Given the description of an element on the screen output the (x, y) to click on. 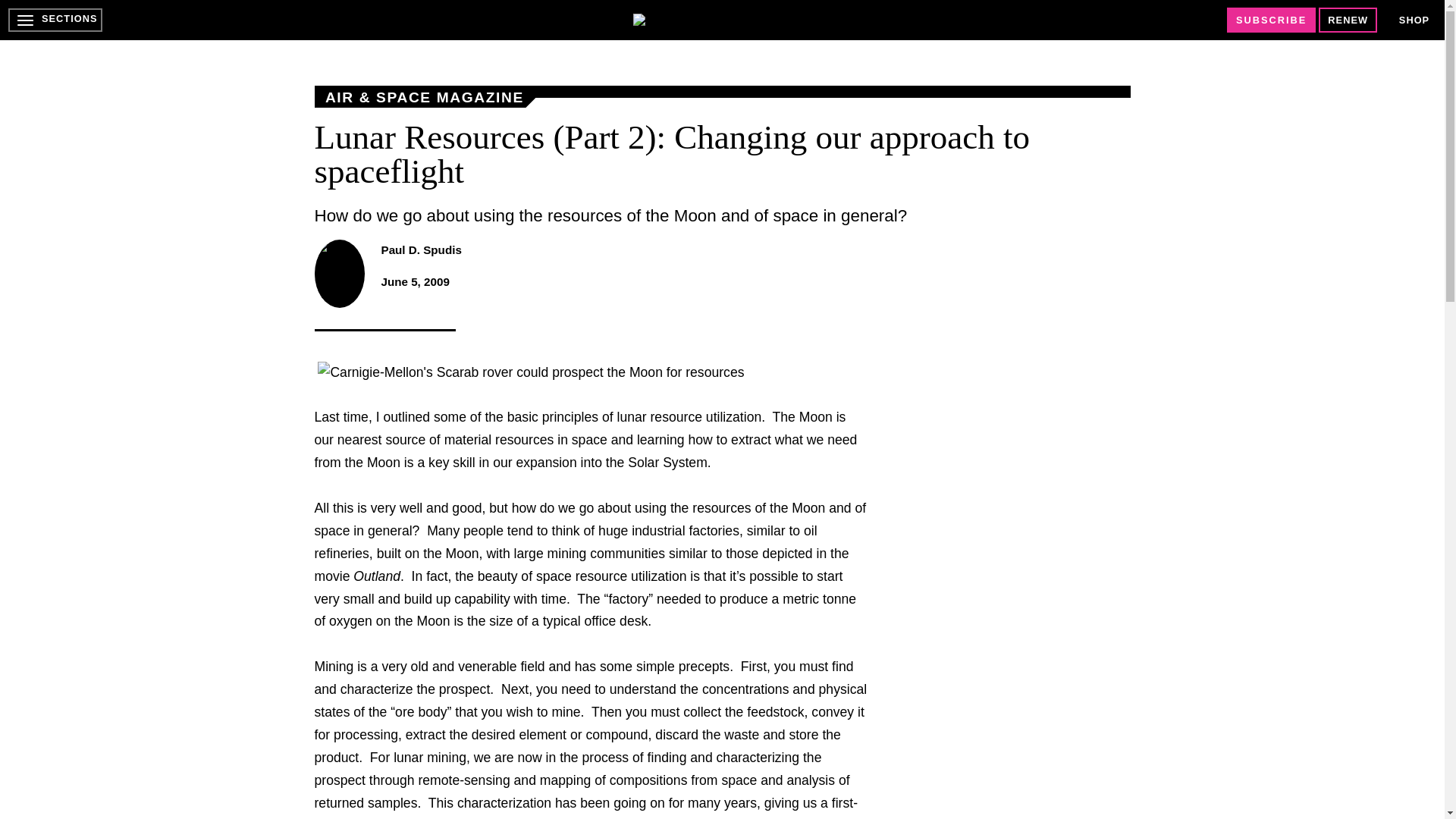
SHOP (1413, 19)
SUBSCRIBE (1271, 19)
SUBSCRIBE (1271, 19)
SHOP (1414, 19)
scarab (530, 372)
RENEW (1348, 19)
RENEW (1347, 19)
SECTIONS (55, 19)
